Given the description of an element on the screen output the (x, y) to click on. 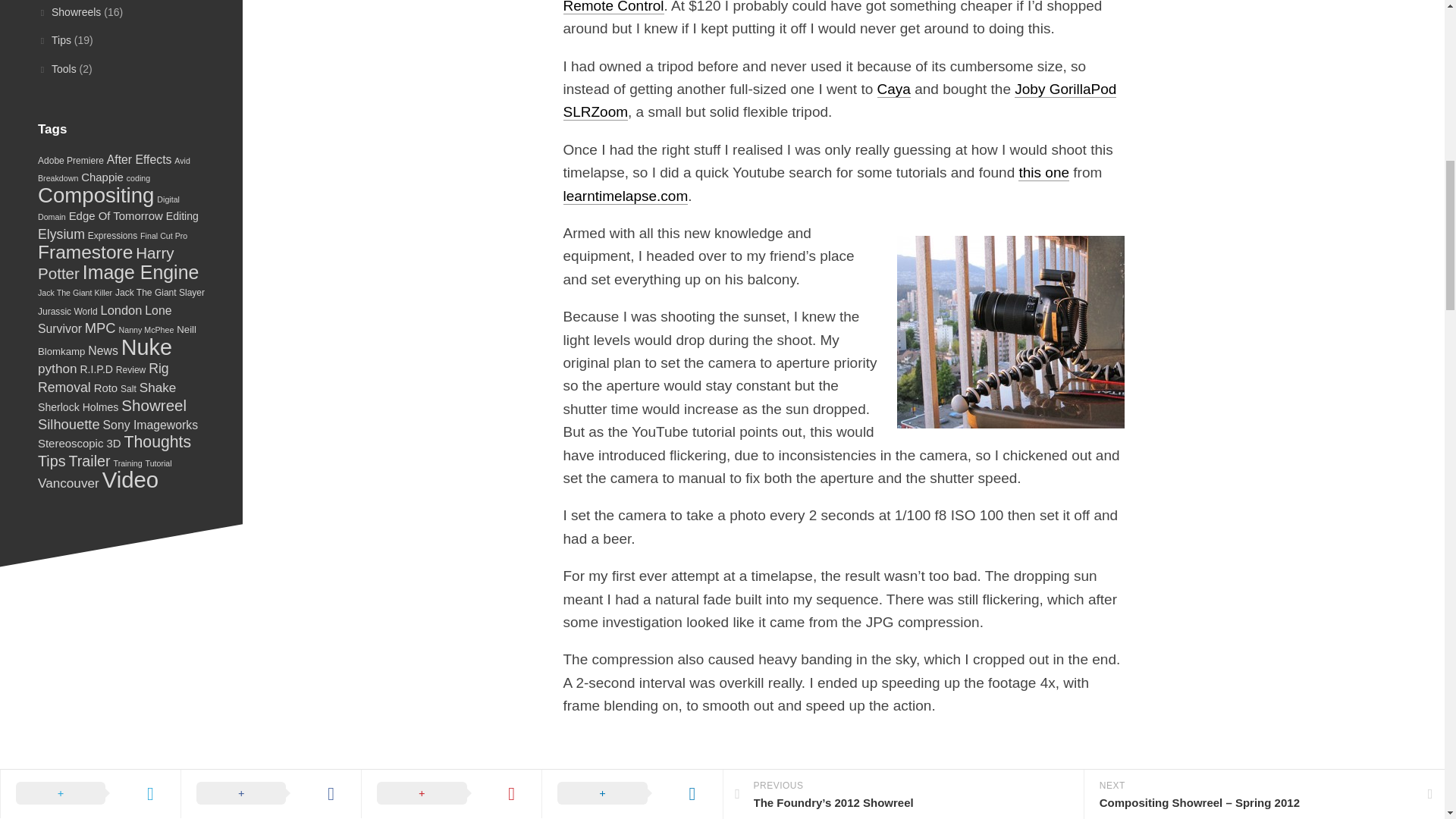
Pixel Wireless Remote Control (838, 6)
learntimelapse.com (624, 195)
Joby Gorilla Pod (839, 100)
Caya (894, 89)
